Given the description of an element on the screen output the (x, y) to click on. 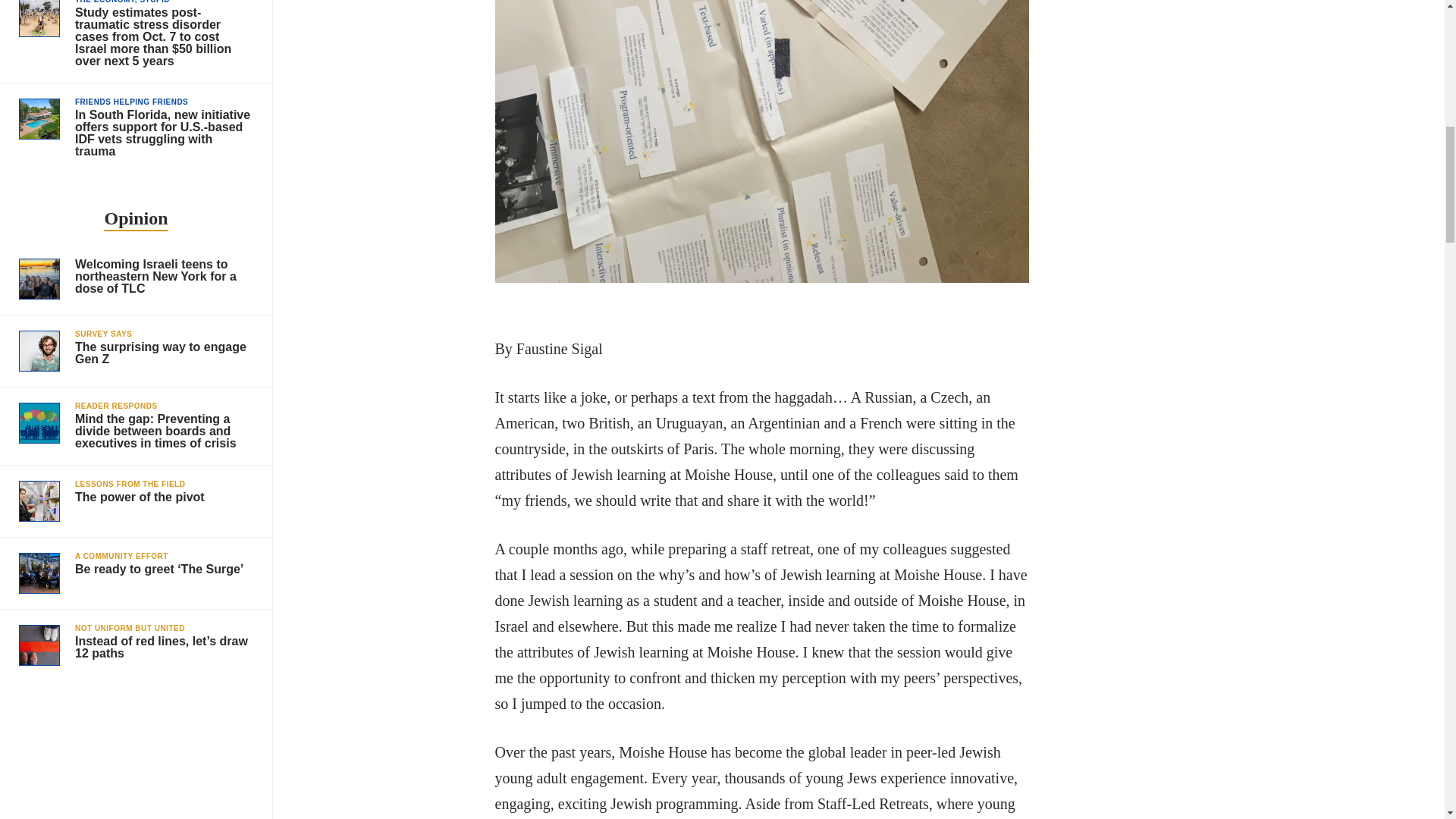
Opinion (136, 350)
